Given the description of an element on the screen output the (x, y) to click on. 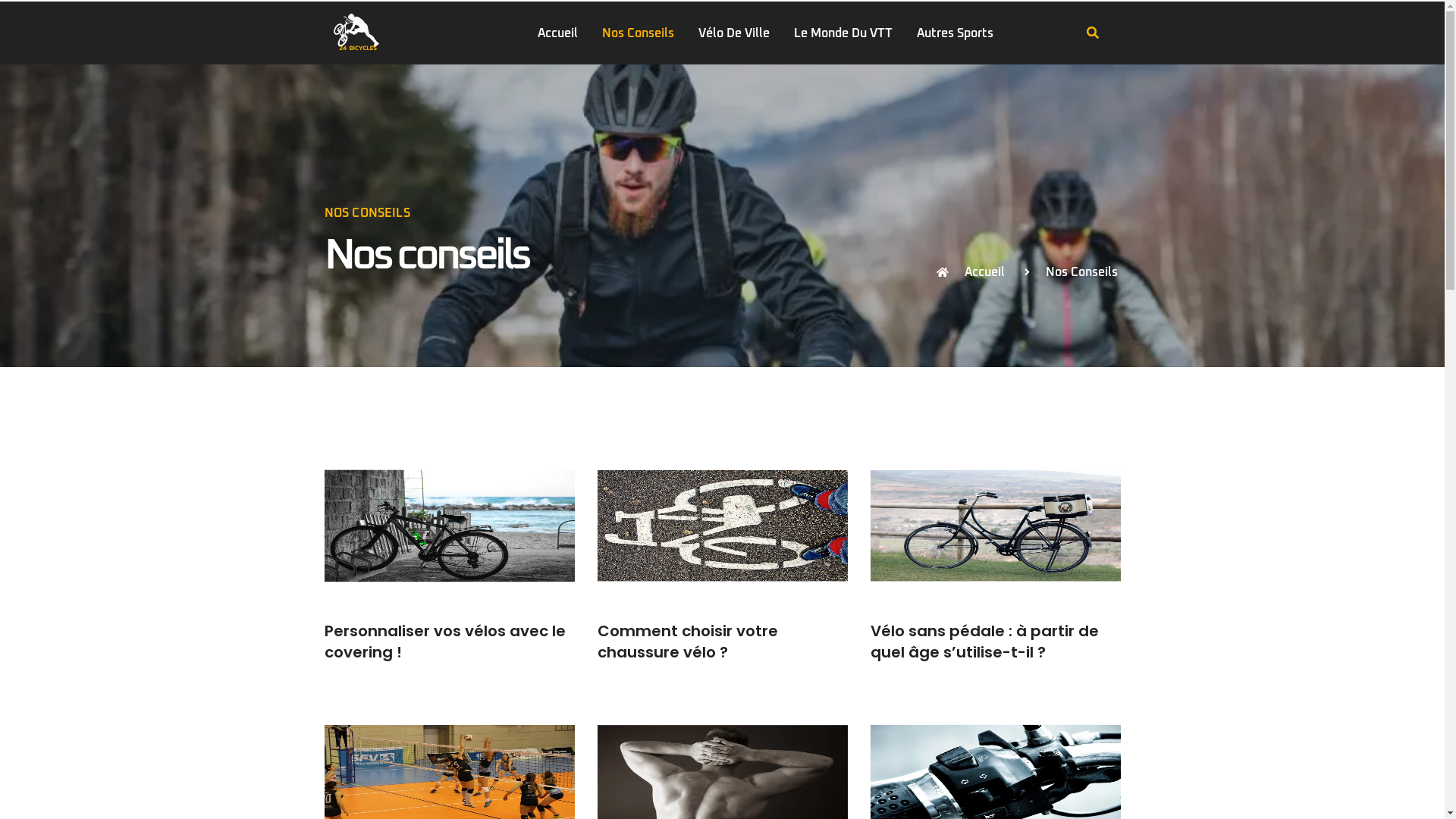
Accueil Element type: text (969, 271)
Nos Conseils Element type: text (638, 33)
Autres Sports Element type: text (954, 33)
Le Monde Du VTT Element type: text (842, 33)
Accueil Element type: text (557, 33)
